Given the description of an element on the screen output the (x, y) to click on. 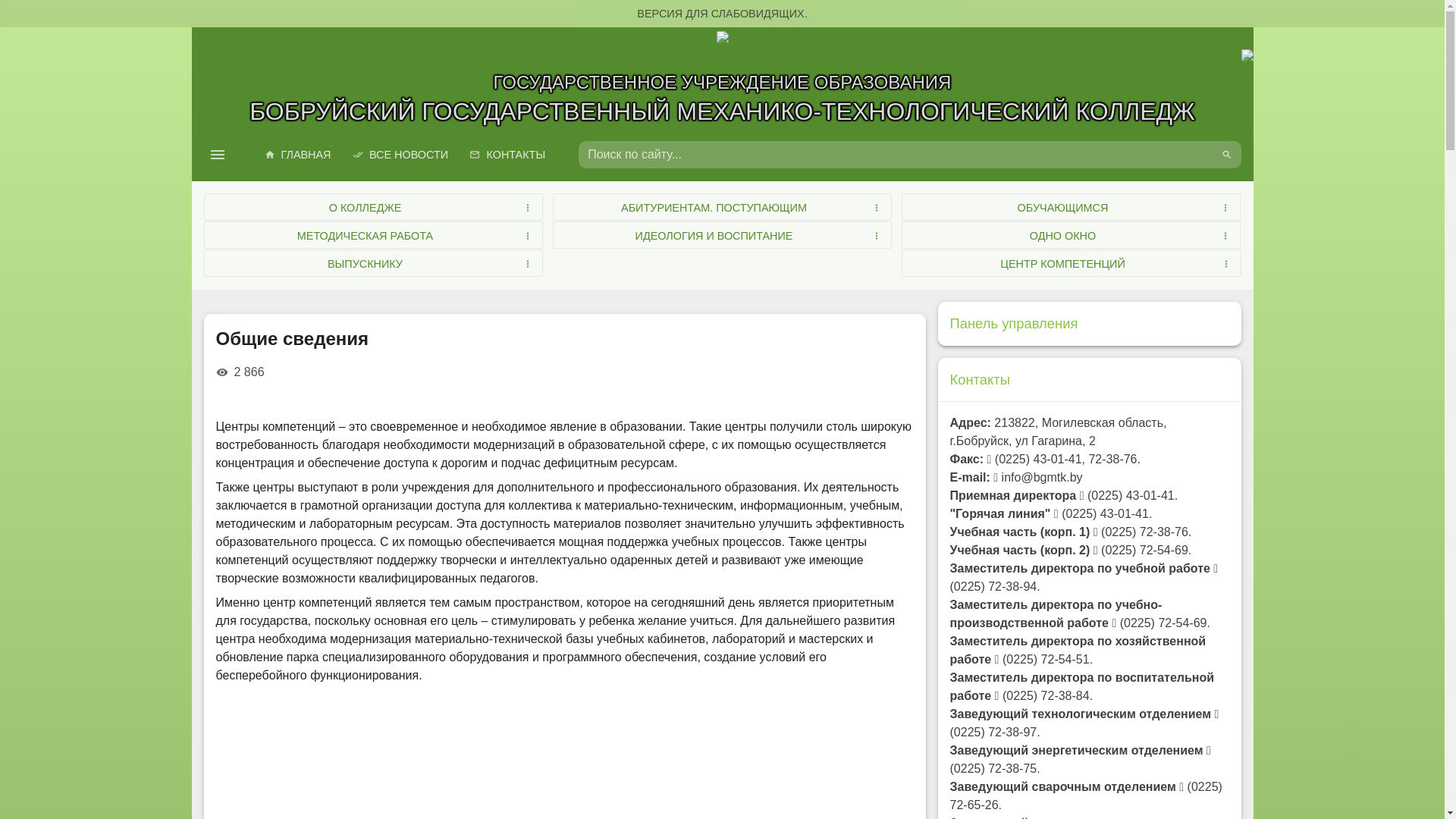
search Element type: text (1225, 154)
menu Element type: text (216, 154)
